Given the description of an element on the screen output the (x, y) to click on. 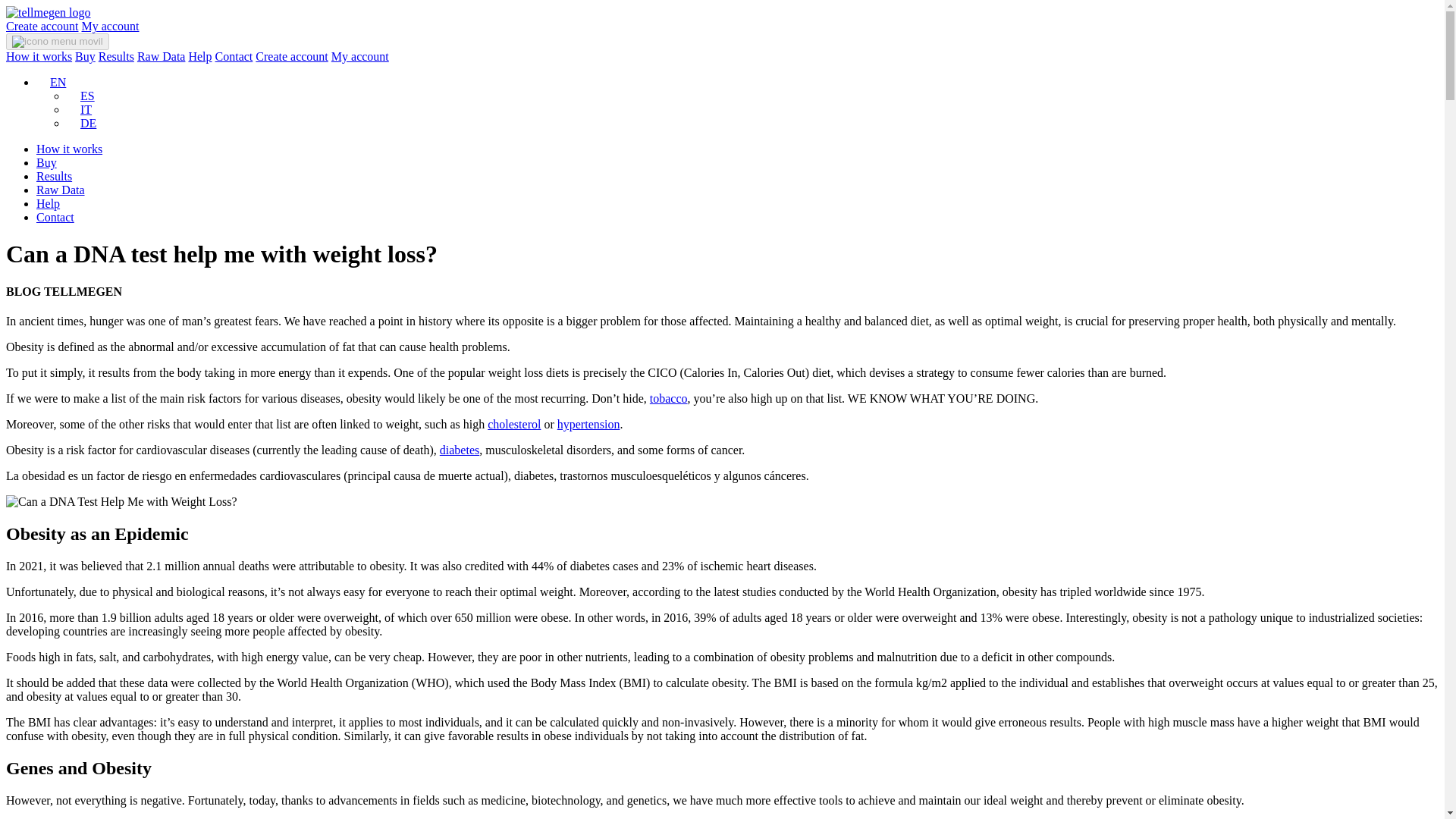
Create account (41, 25)
ES (80, 95)
cholesterol (513, 423)
Raw Data (161, 56)
Raw Data (60, 189)
My account (110, 25)
Results (116, 56)
EN (50, 82)
My account (359, 56)
IT (78, 109)
